Given the description of an element on the screen output the (x, y) to click on. 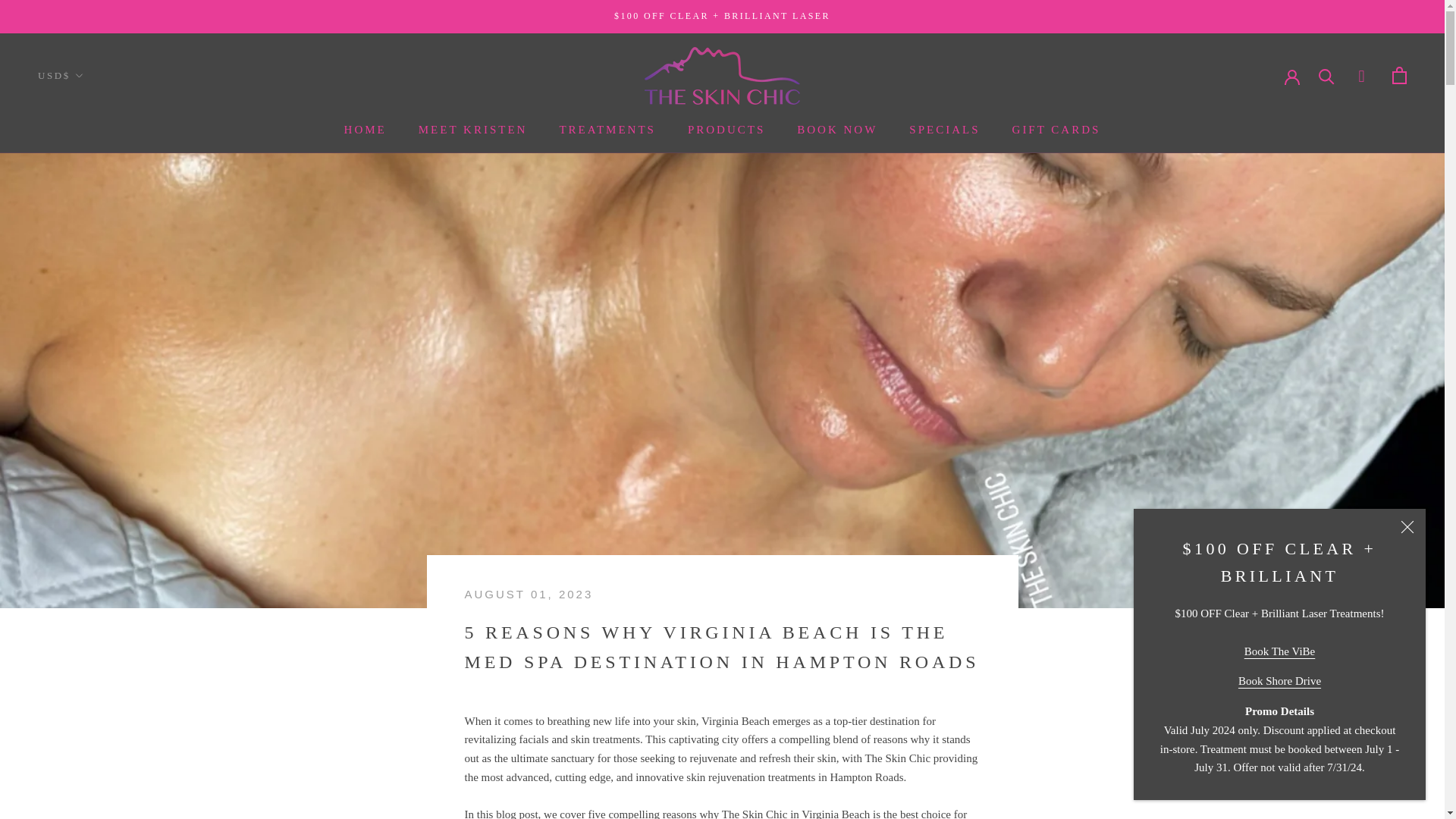
Book The ViBe (1280, 650)
Book Shore Drive (1279, 680)
